Given the description of an element on the screen output the (x, y) to click on. 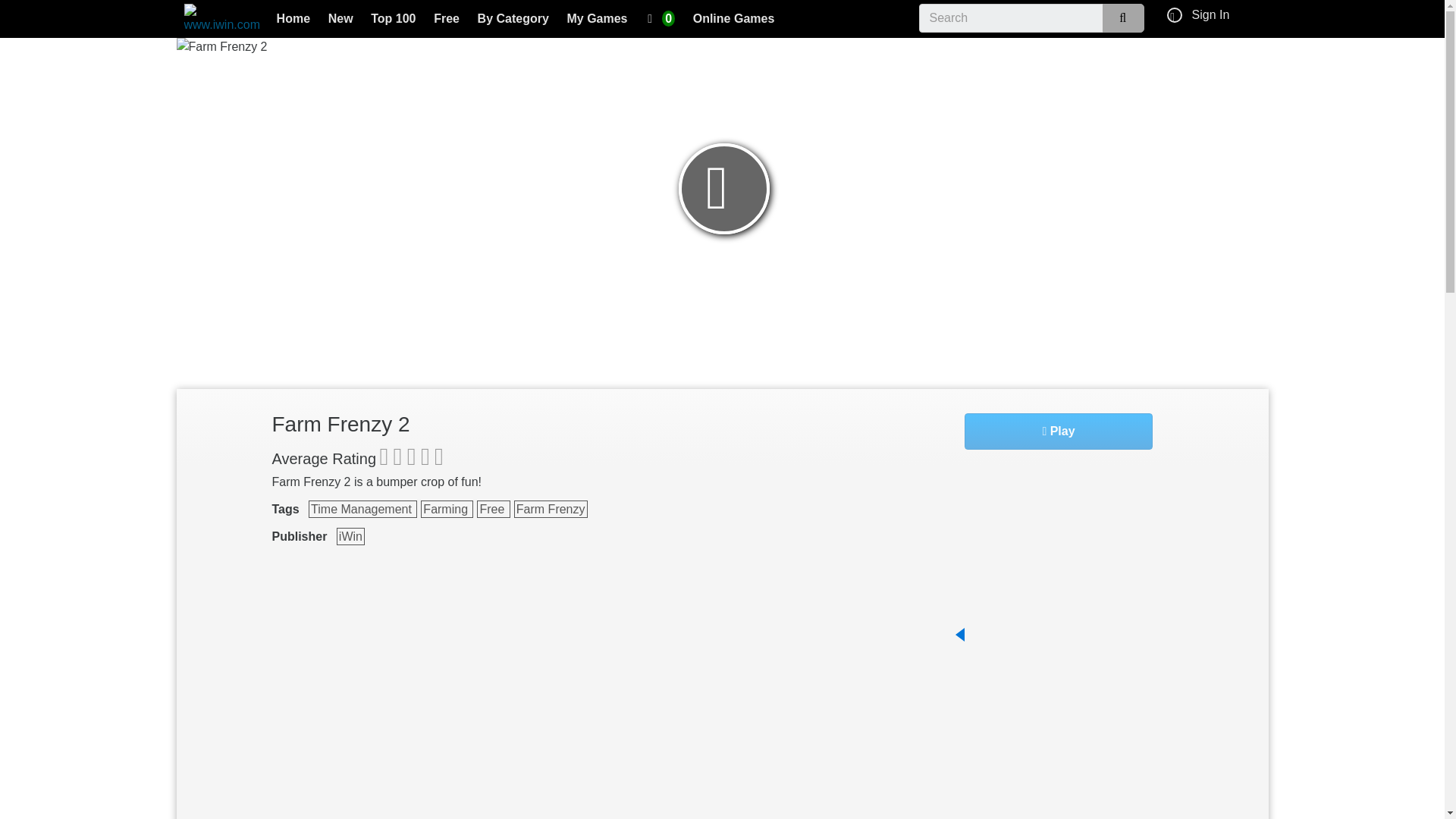
New (339, 20)
See Time Management Games (362, 508)
See Free Games (493, 508)
Sign In (1211, 14)
My Games (596, 20)
See Farming Games (446, 508)
Online Games (733, 20)
See Farm Frenzy Games (550, 508)
0 (660, 20)
www.iwin.com (221, 19)
Free (446, 20)
By Category (513, 20)
Play (1058, 431)
Top 100 (393, 20)
